Given the description of an element on the screen output the (x, y) to click on. 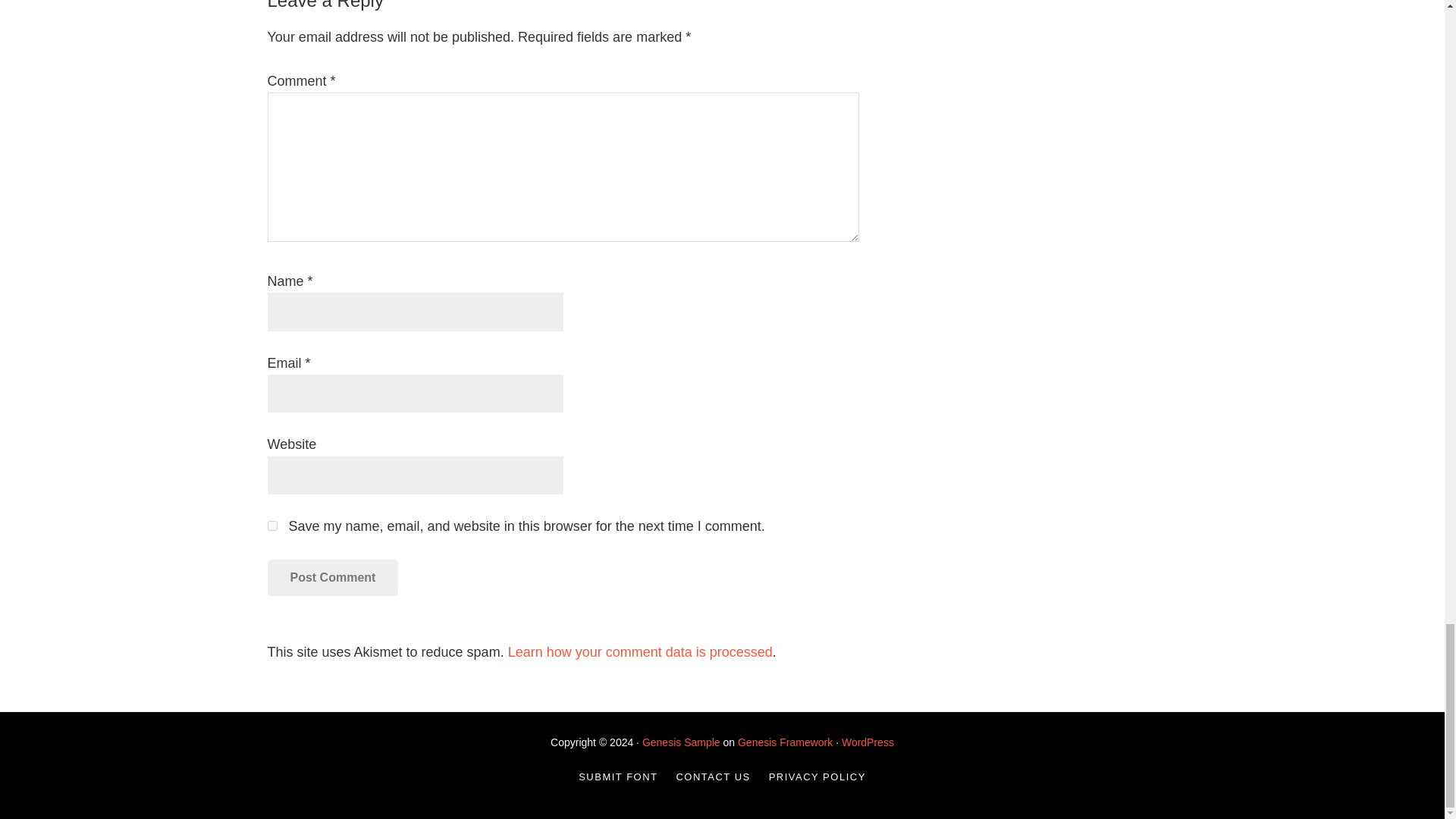
Post Comment (331, 577)
yes (271, 525)
Post Comment (331, 577)
Learn how your comment data is processed (640, 652)
